Given the description of an element on the screen output the (x, y) to click on. 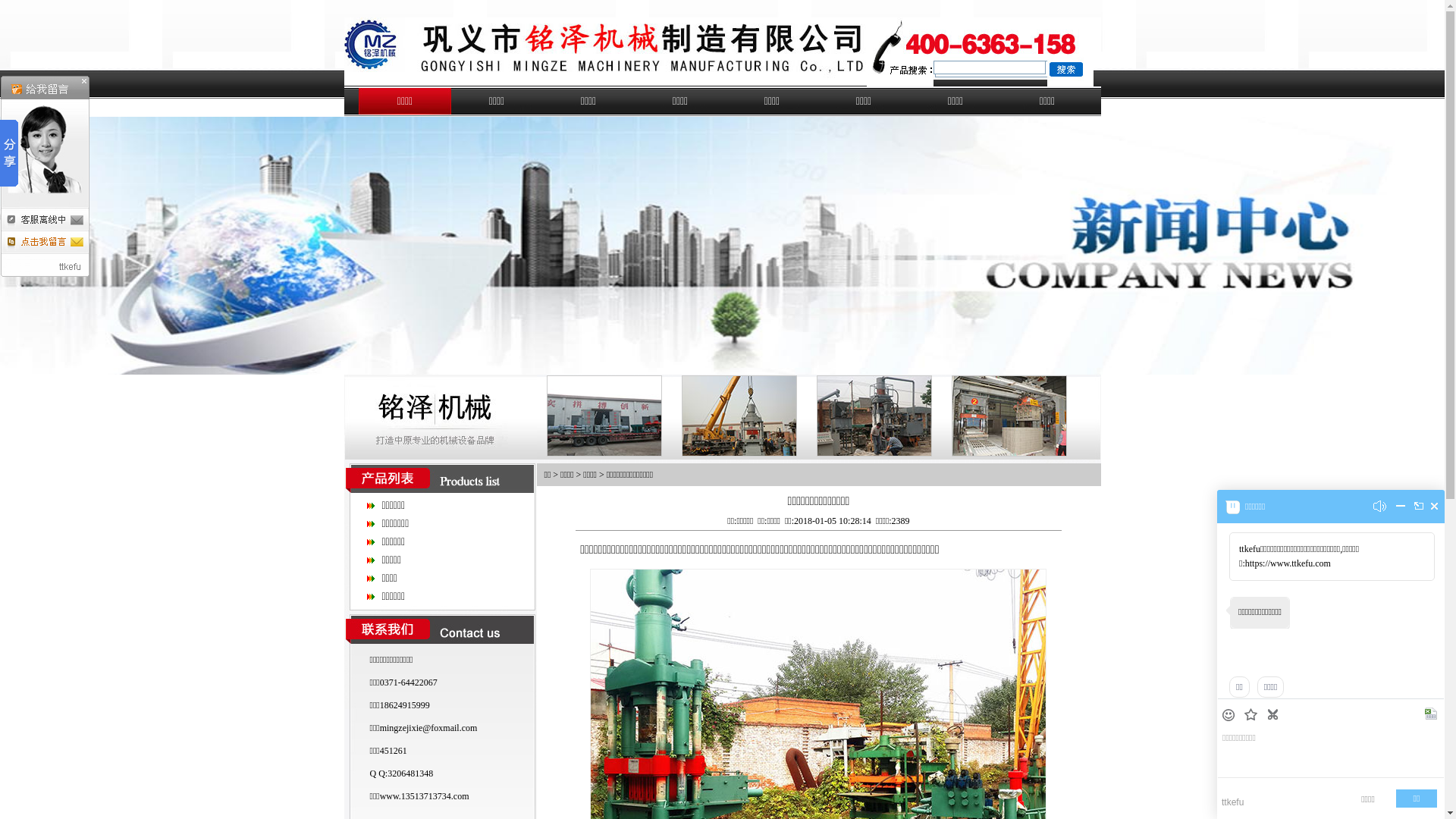
  Element type: text (1400, 509)
  Element type: text (1430, 714)
  Element type: text (1229, 715)
  Element type: text (1434, 505)
https://www.ttkefu.com Element type: text (1287, 563)
  Element type: text (1273, 714)
  Element type: text (1251, 715)
